Given the description of an element on the screen output the (x, y) to click on. 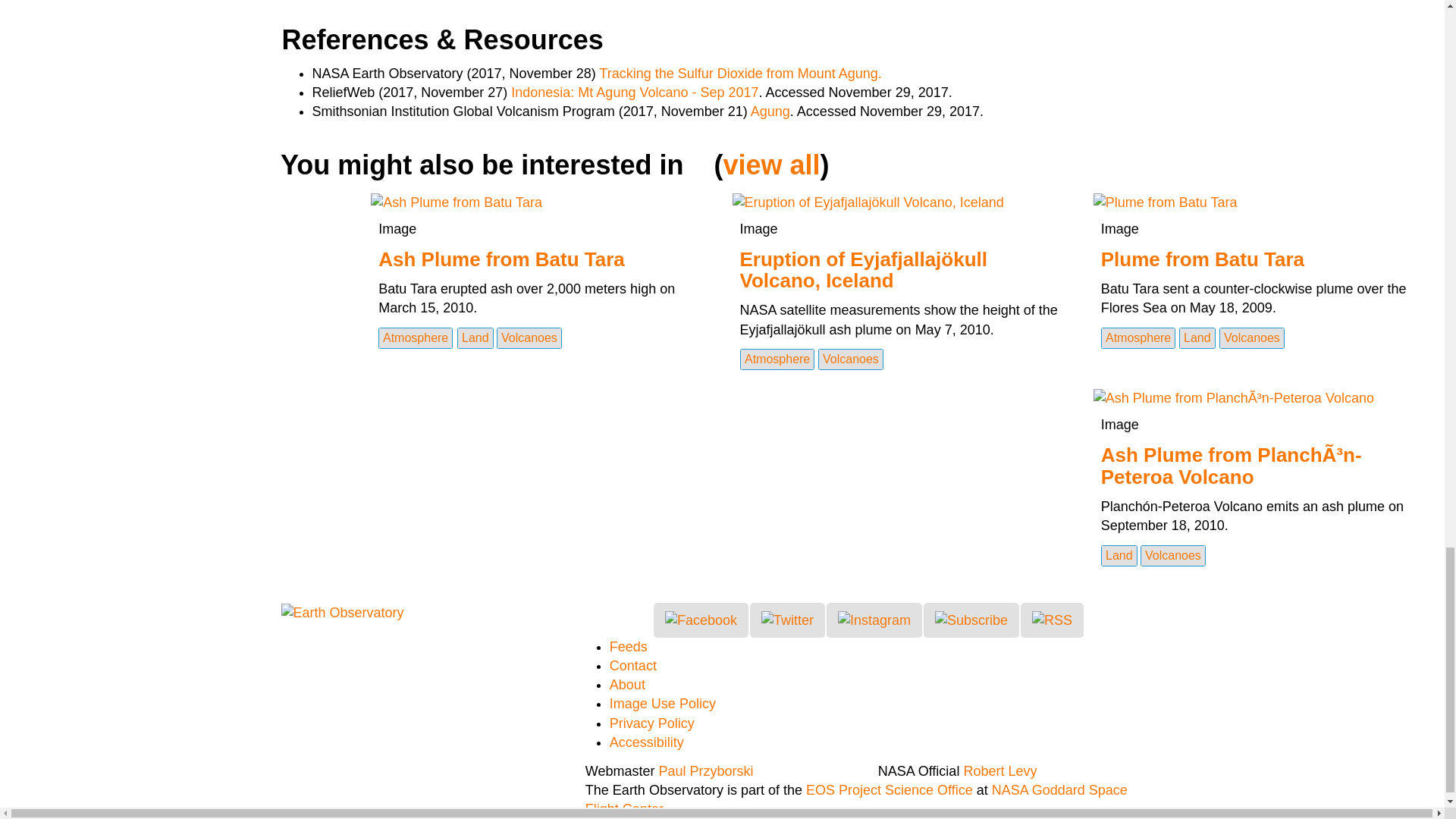
Earth Observatory (342, 611)
Instagram (874, 620)
RSS (1051, 620)
Twitter (787, 620)
Facebook (700, 620)
Subscribe (971, 620)
